Given the description of an element on the screen output the (x, y) to click on. 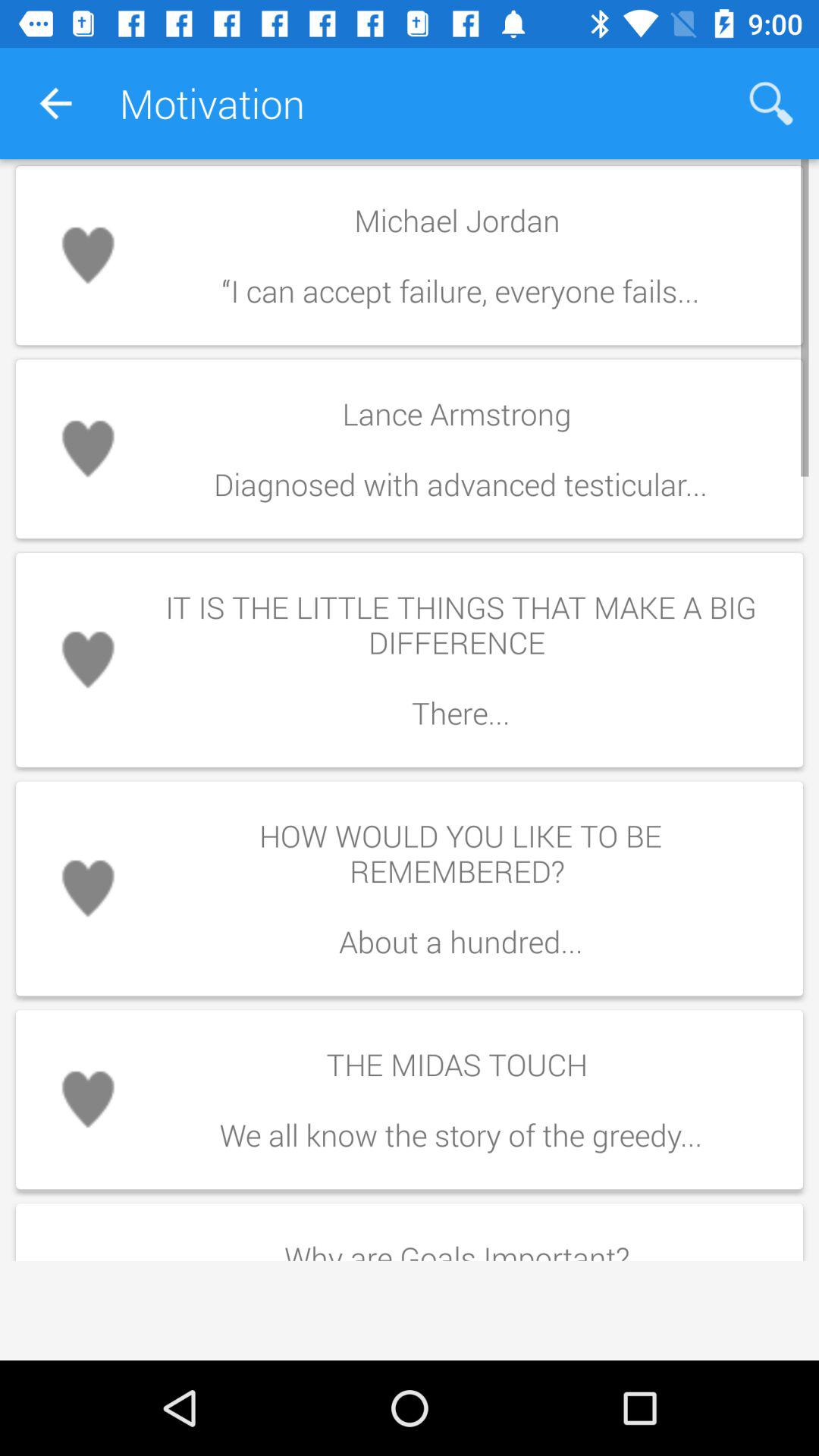
select the icon above why are goals (460, 1099)
